Given the description of an element on the screen output the (x, y) to click on. 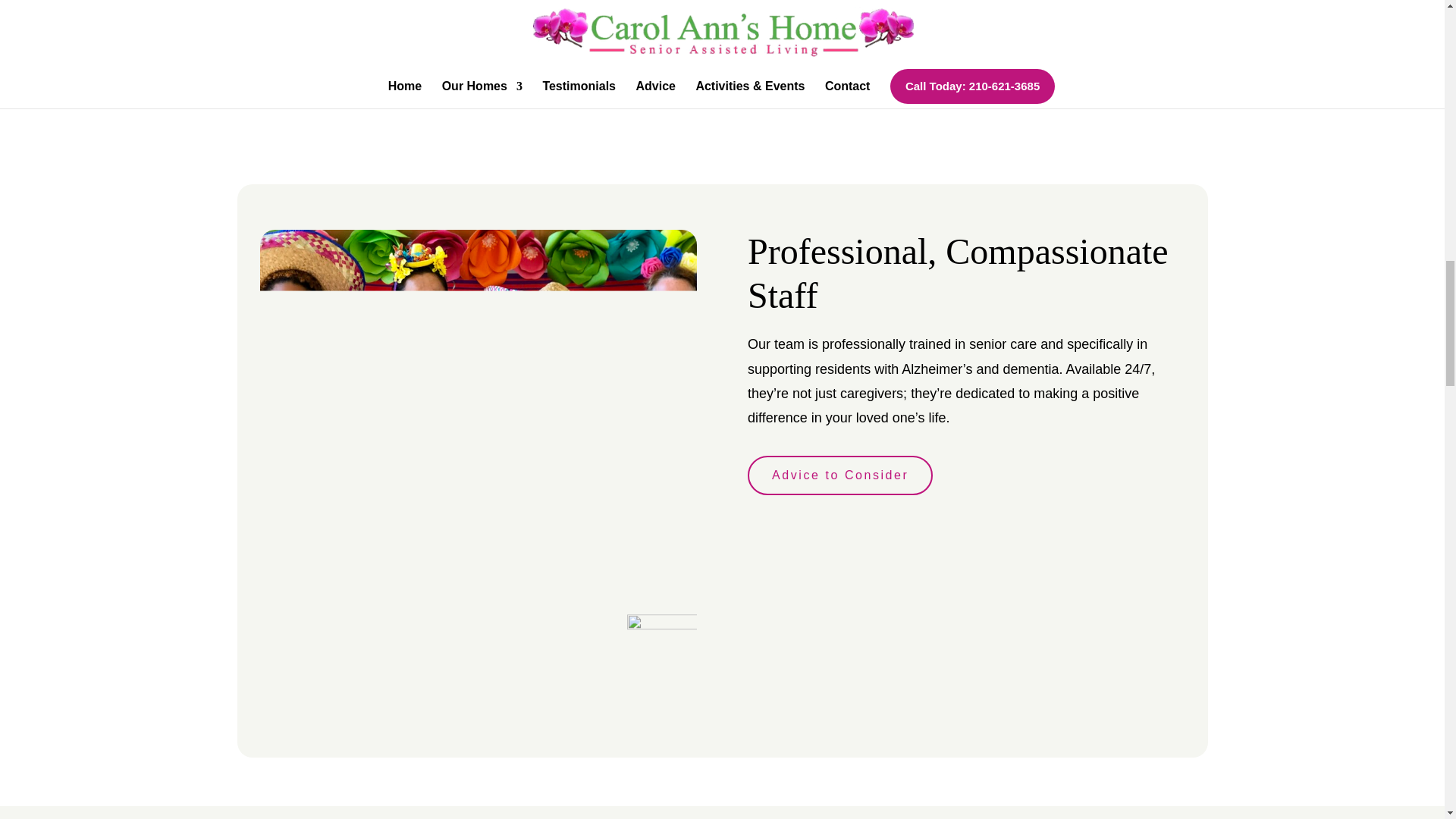
View Full Review (406, 4)
View Full Review (722, 4)
View Full Review (1038, 4)
